Given the description of an element on the screen output the (x, y) to click on. 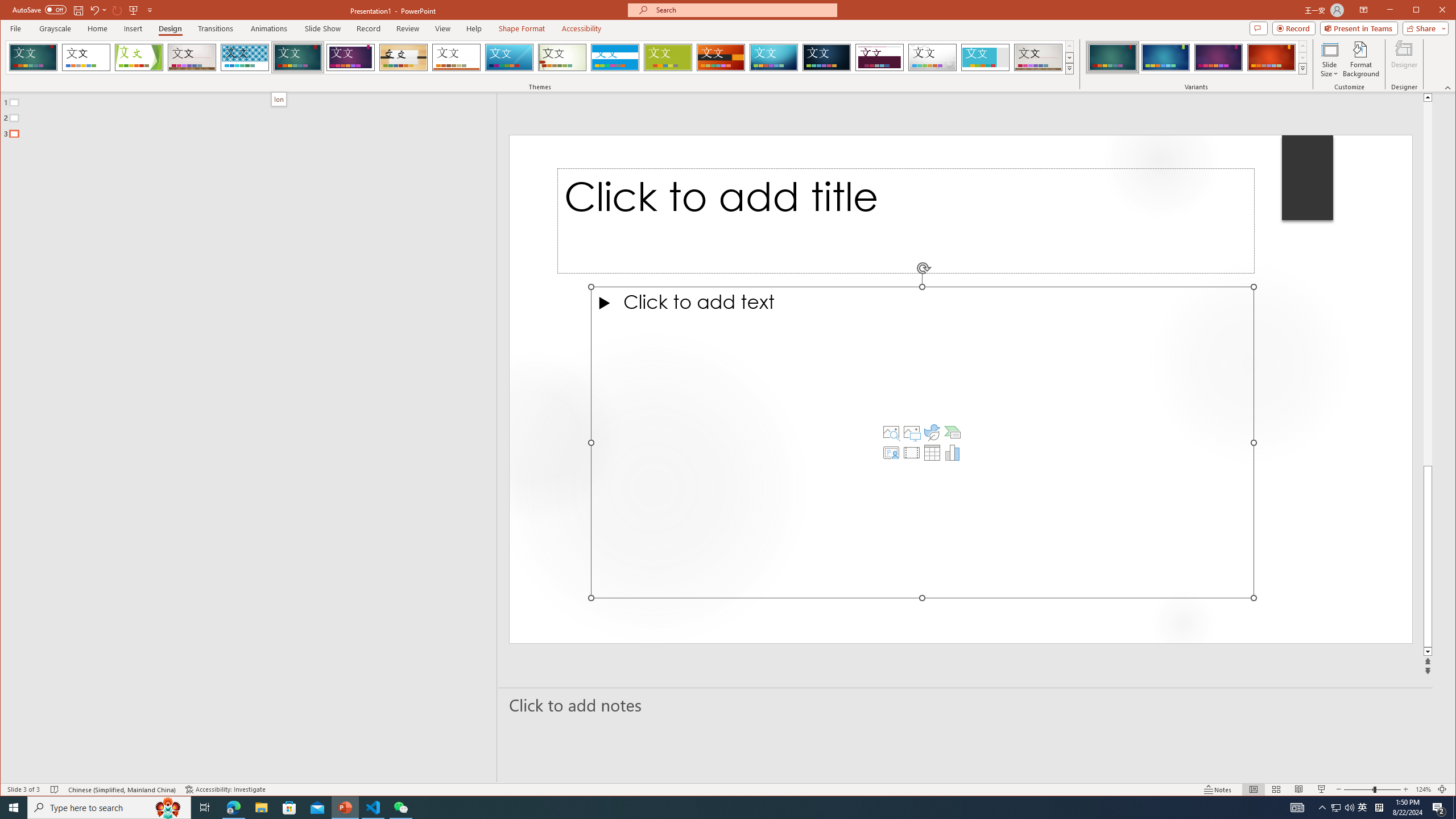
Damask (826, 57)
Organic (403, 57)
Integral (244, 57)
Retrospect (456, 57)
